Given the description of an element on the screen output the (x, y) to click on. 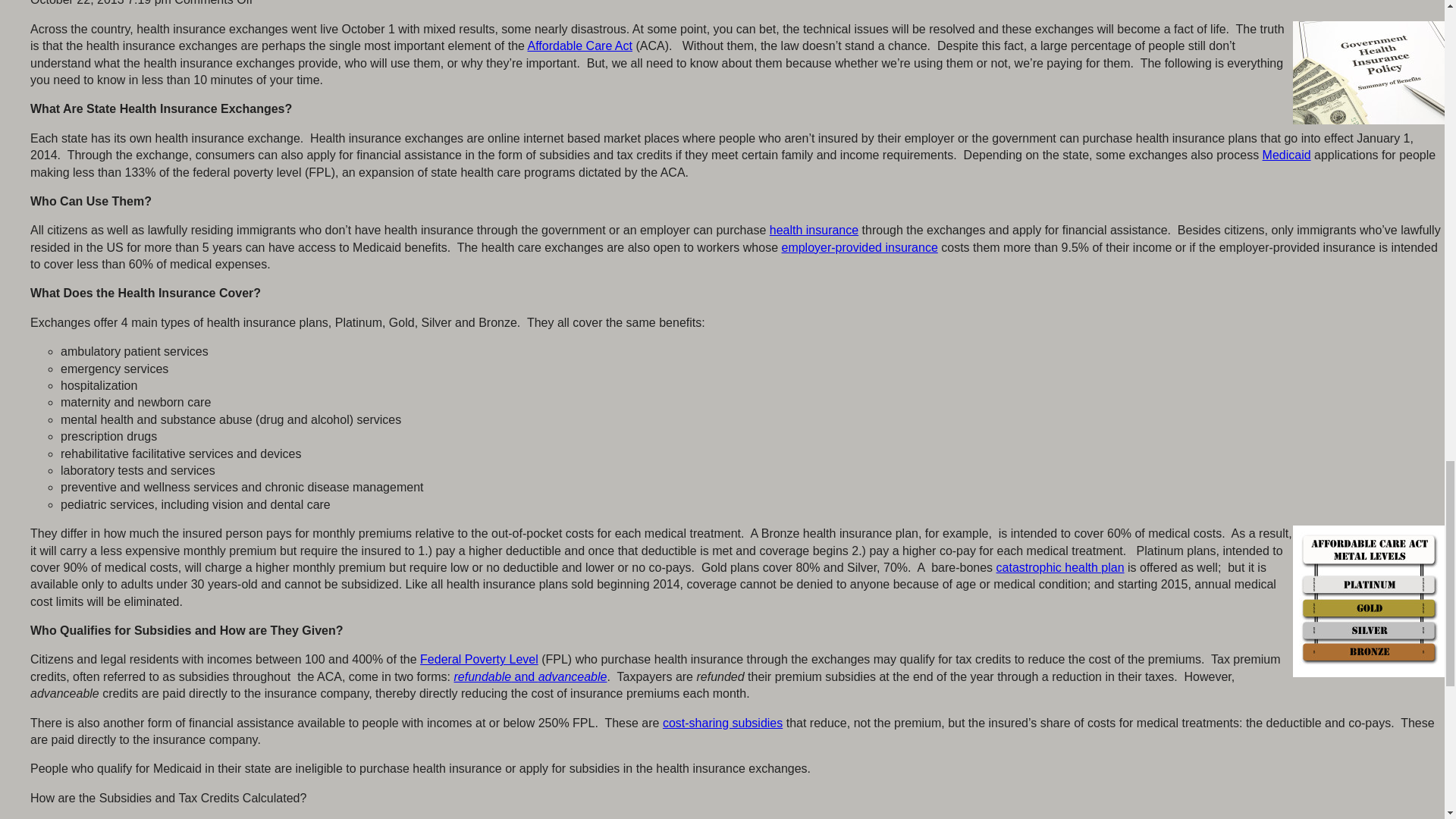
refundable and advanceable (529, 676)
Affordable Care Act (579, 45)
employer-provided insurance (858, 246)
cost-sharing subsidies (722, 722)
Medicaid (1286, 154)
catastrophic health plan (1059, 567)
health insurance (814, 229)
Federal Poverty Level (479, 658)
